Given the description of an element on the screen output the (x, y) to click on. 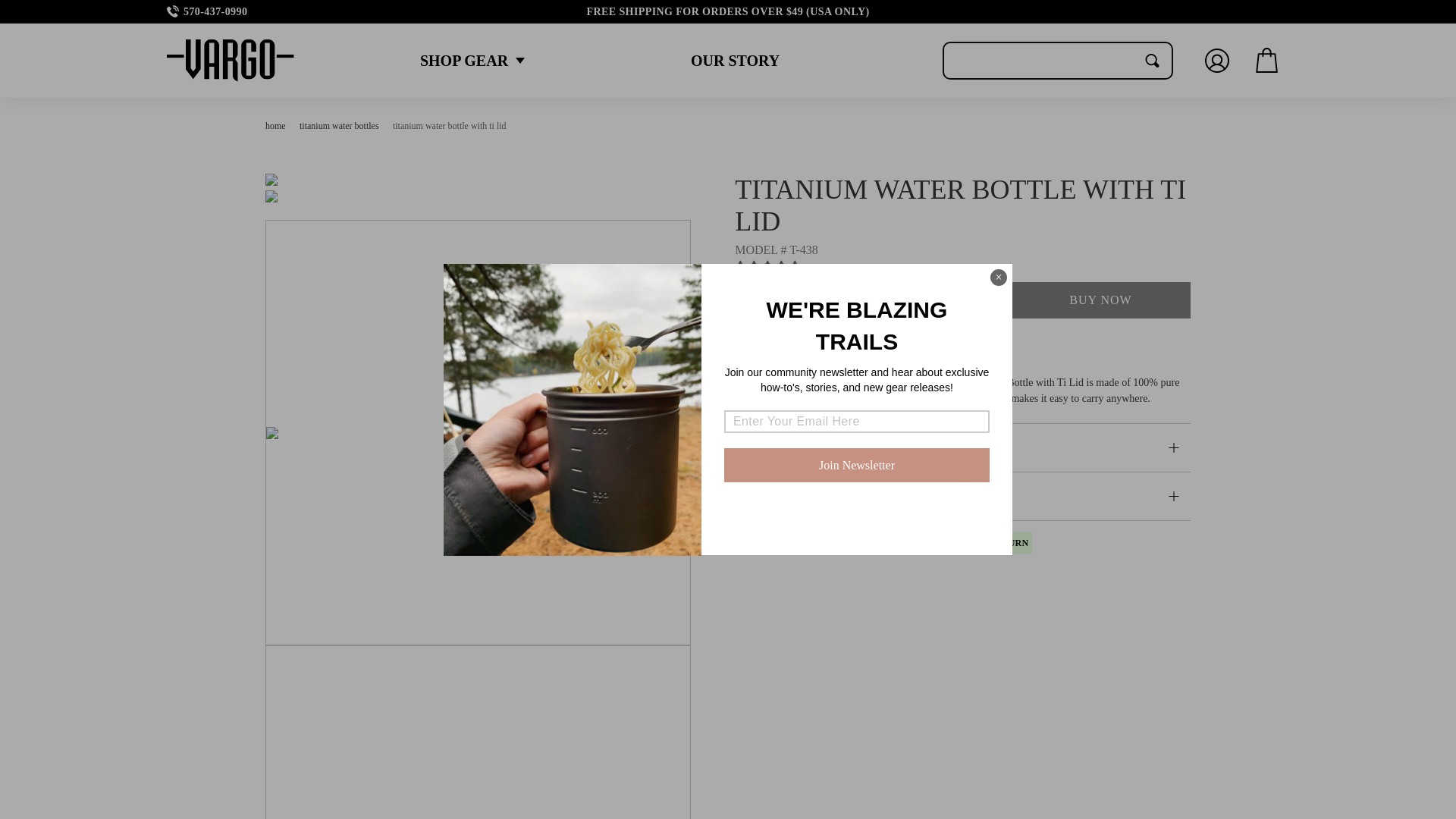
SHOP GEAR (463, 60)
Skip to content (45, 16)
Join Newsletter (856, 464)
